Given the description of an element on the screen output the (x, y) to click on. 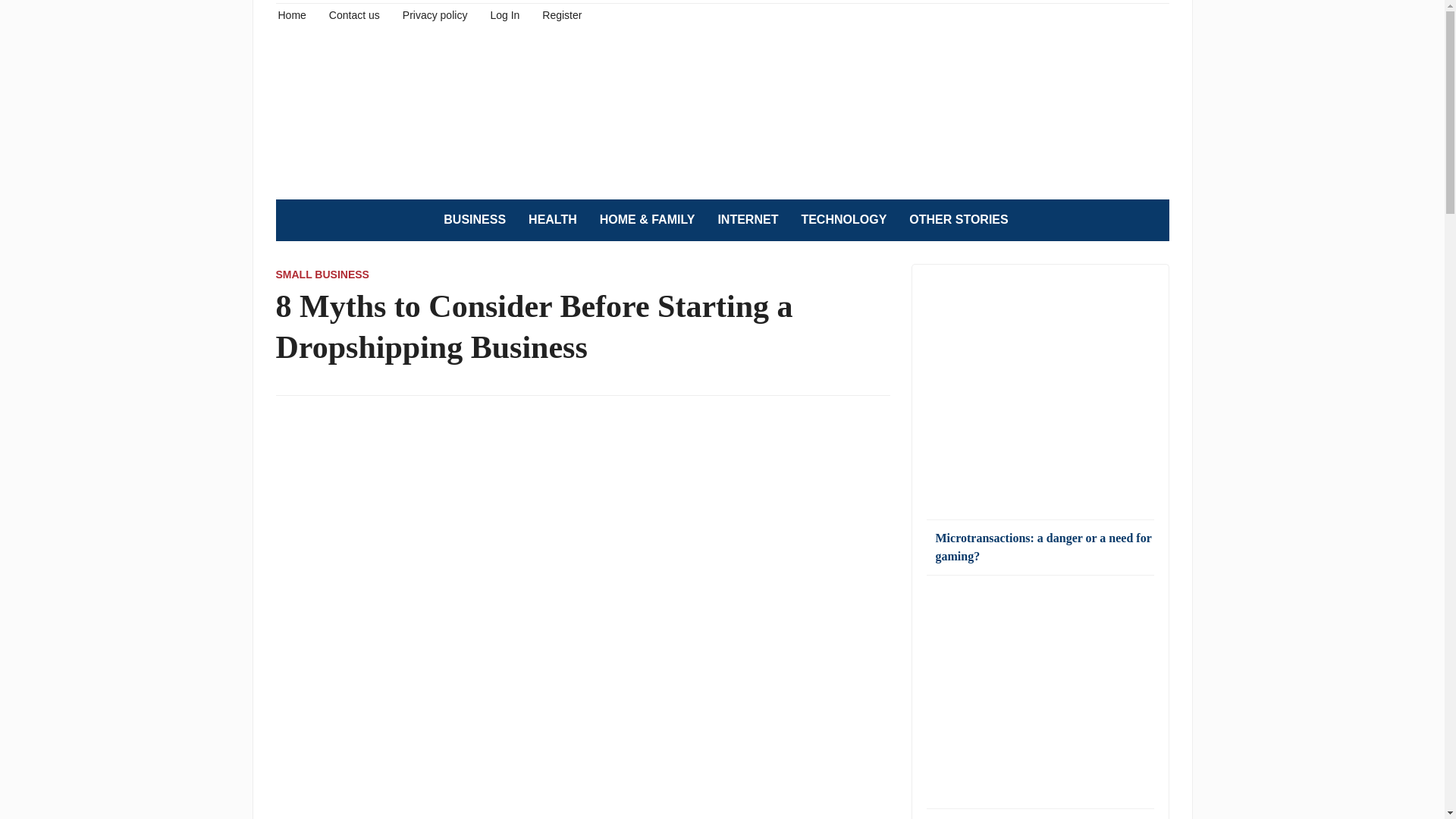
Home (291, 14)
Search (1149, 219)
Contact us (354, 14)
Register (560, 14)
Privacy policy (435, 14)
Log In (504, 14)
